Given the description of an element on the screen output the (x, y) to click on. 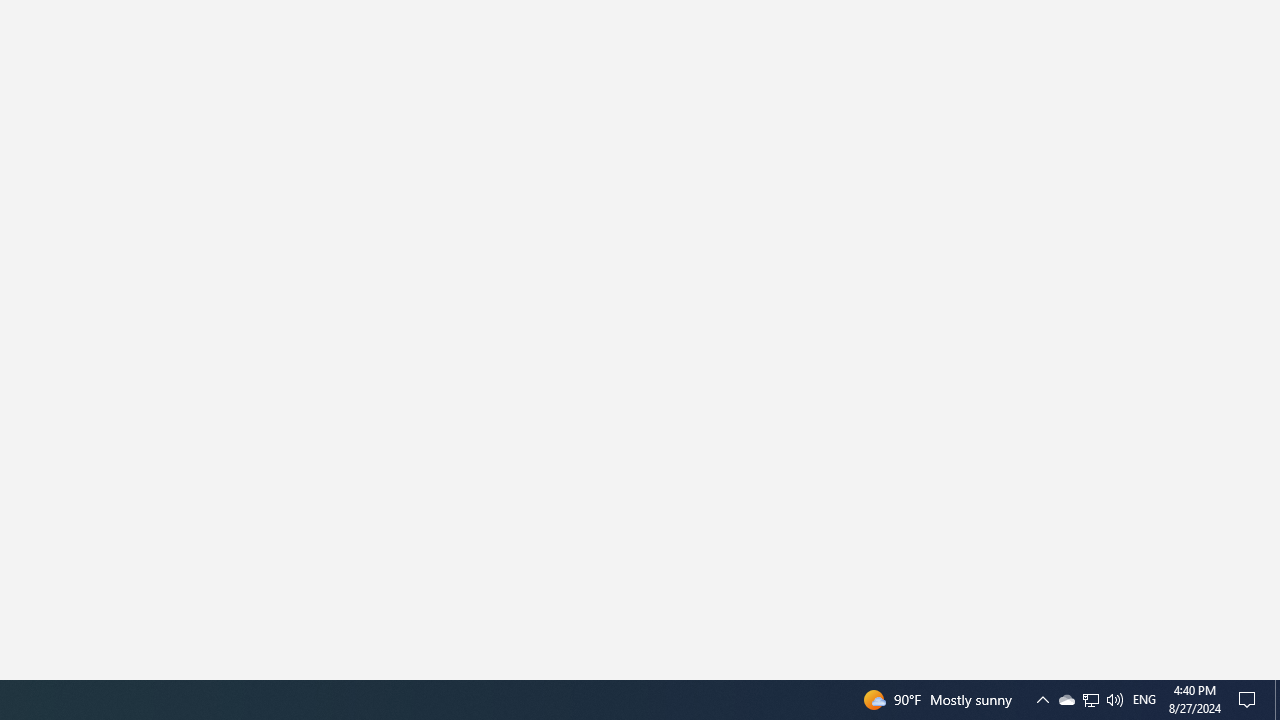
Action Center, No new notifications (1250, 699)
Notification Chevron (1042, 699)
User Promoted Notification Area (1066, 699)
Show desktop (1090, 699)
Q2790: 100% (1277, 699)
Tray Input Indicator - English (United States) (1114, 699)
